Given the description of an element on the screen output the (x, y) to click on. 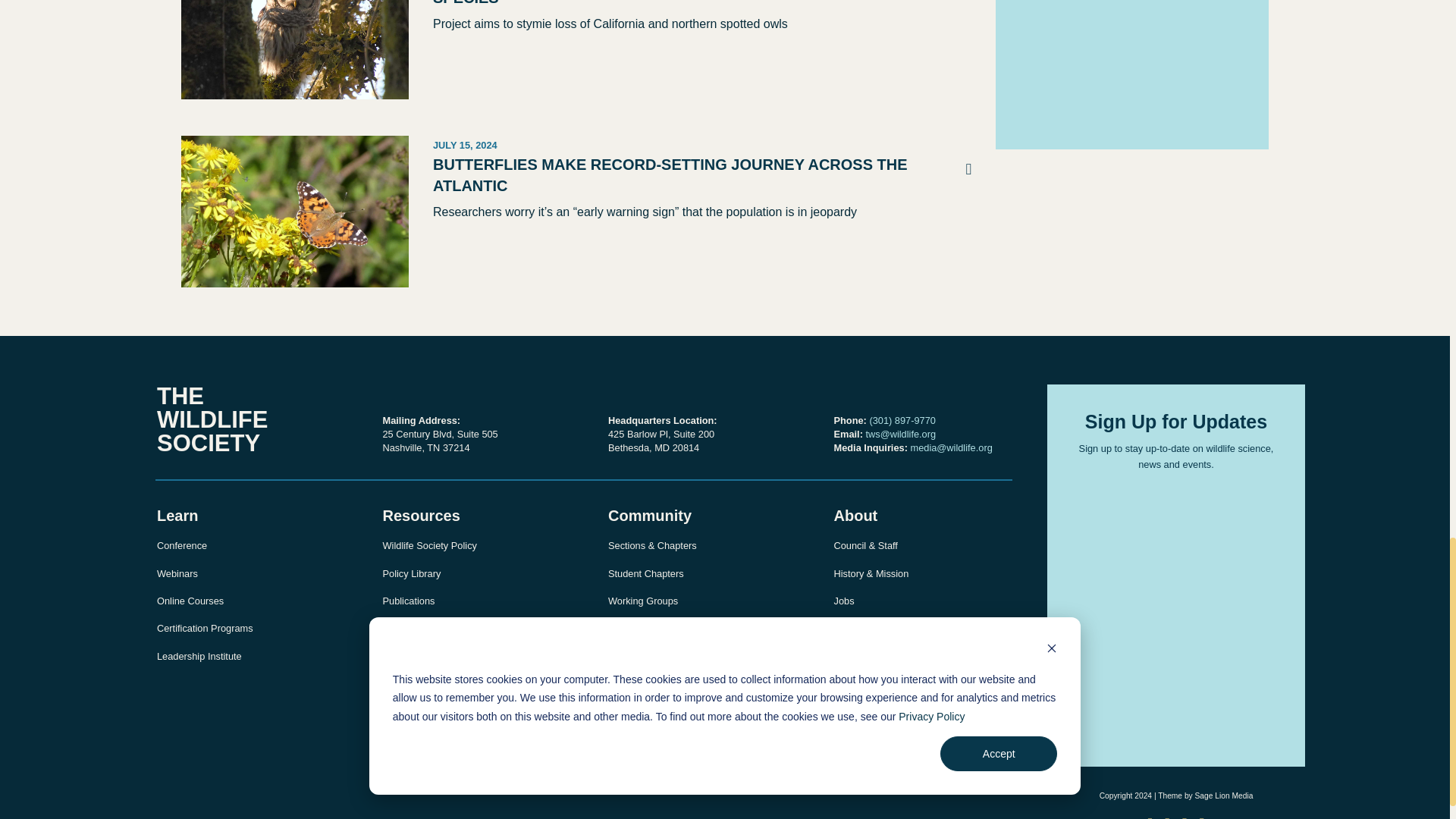
Form 0 (1132, 62)
